Given the description of an element on the screen output the (x, y) to click on. 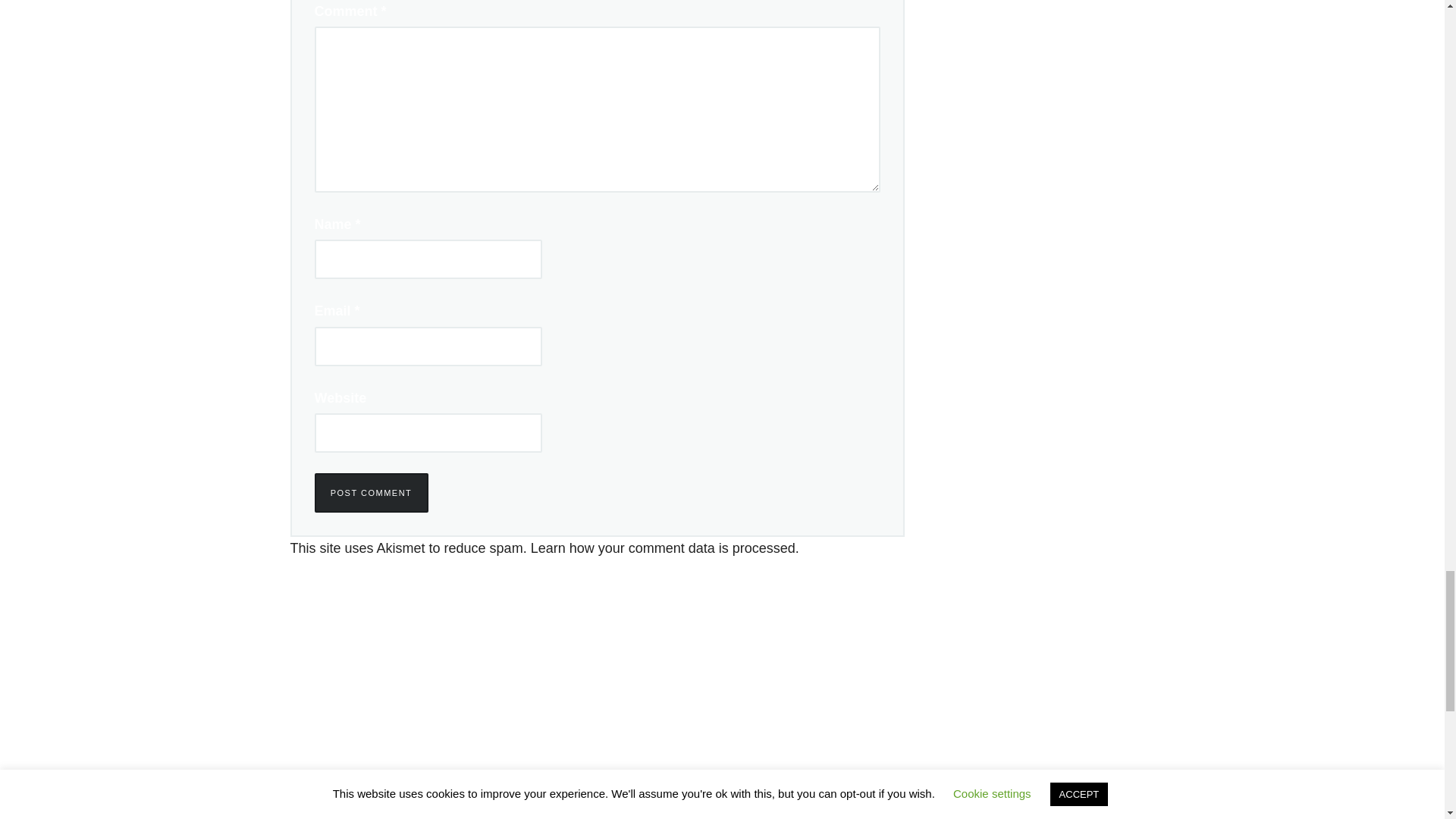
Post Comment (371, 492)
